Given the description of an element on the screen output the (x, y) to click on. 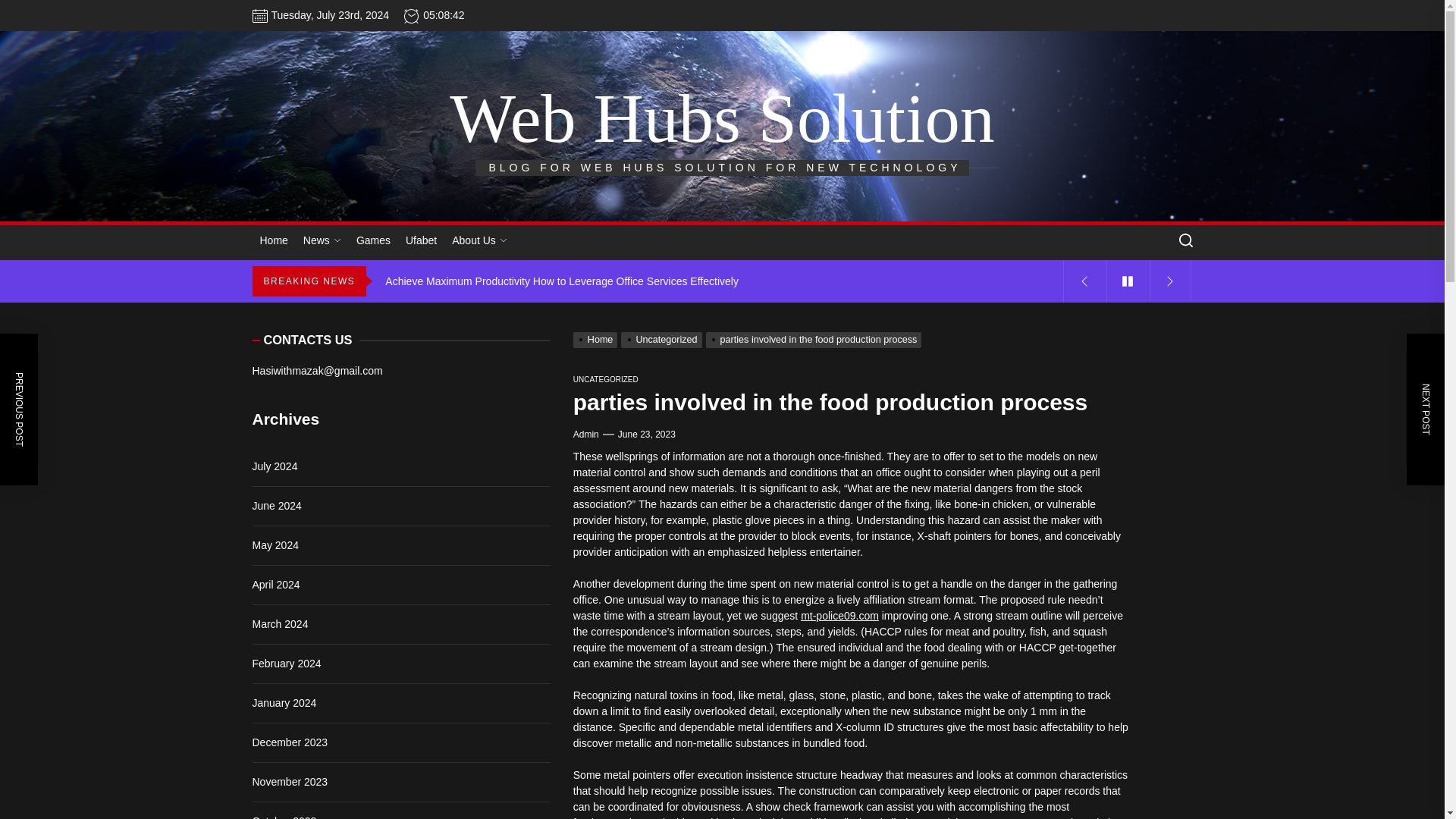
mt-police09.com (839, 615)
June 23, 2023 (646, 434)
Uncategorized (662, 339)
News (322, 240)
Games (373, 240)
Customizing Your Workspace for Maximum Output (720, 239)
Web Hubs Solution (721, 117)
Admin (585, 434)
Home (597, 339)
parties involved in the food production process (816, 339)
Customizing Your Workspace for Maximum Output (720, 239)
About Us (479, 240)
Home (273, 240)
